Given the description of an element on the screen output the (x, y) to click on. 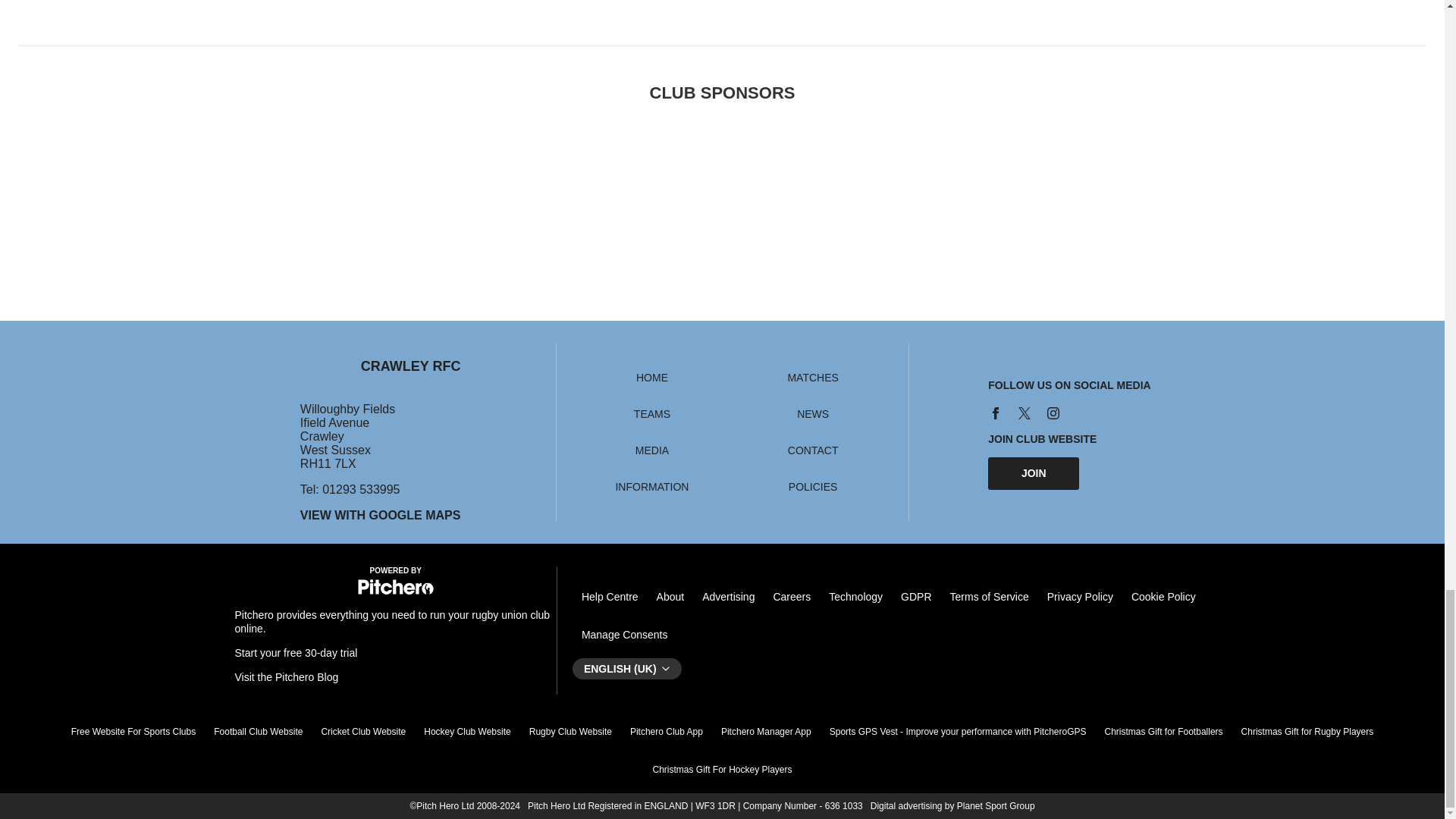
Silver - DH Electrical (722, 193)
Club Sponsor - Benchmark Reprographics (1352, 193)
Bronze - Energie Fitness (1036, 193)
Platinum - AF Scaffolding (90, 193)
Gold - Greenaway Residential (563, 193)
Bronze - McDonald's (1194, 193)
Gold - Technetix (406, 193)
Bronze - Network Blinds (879, 193)
Gold - Ice Club (247, 193)
